Given the description of an element on the screen output the (x, y) to click on. 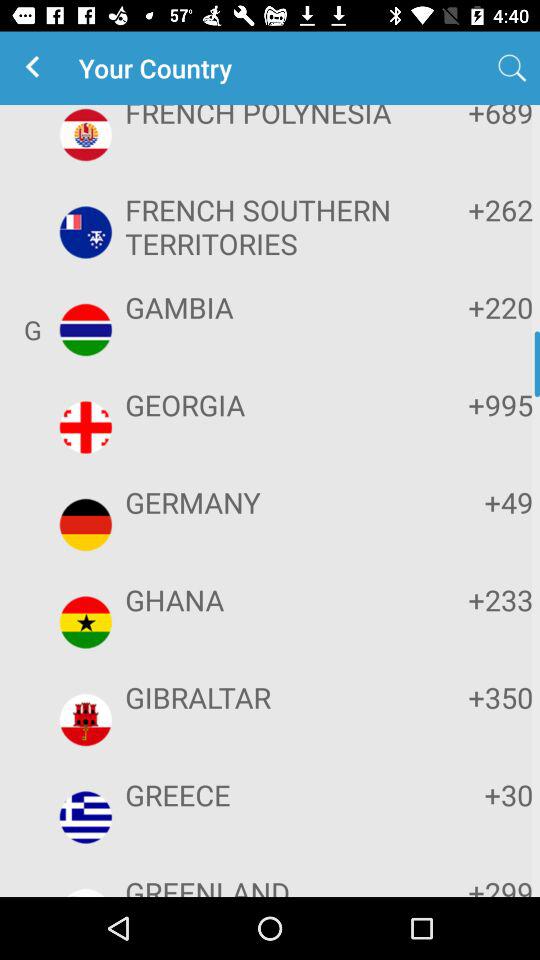
press french southern territories item (267, 226)
